Given the description of an element on the screen output the (x, y) to click on. 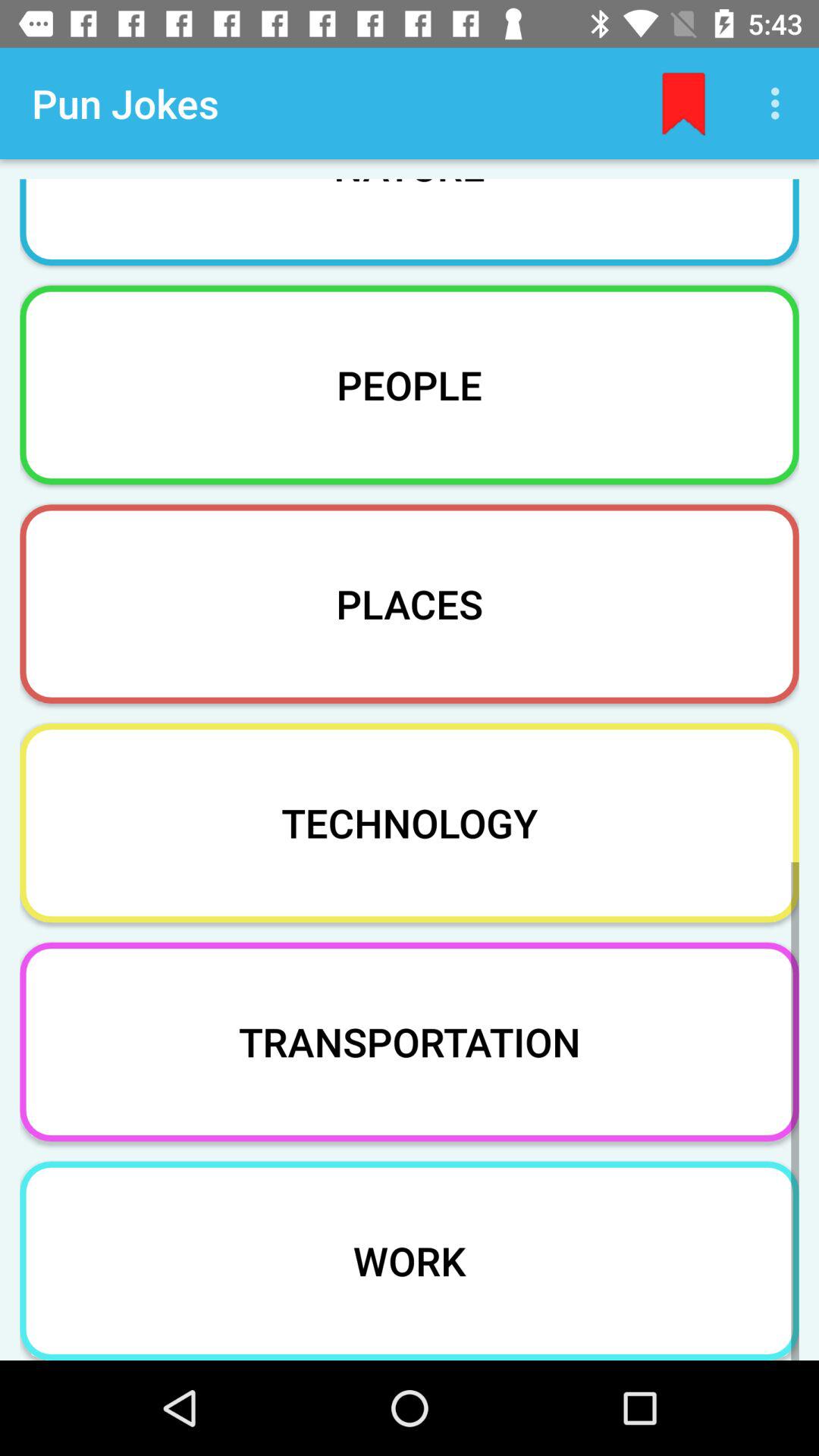
press the work item (409, 1260)
